Given the description of an element on the screen output the (x, y) to click on. 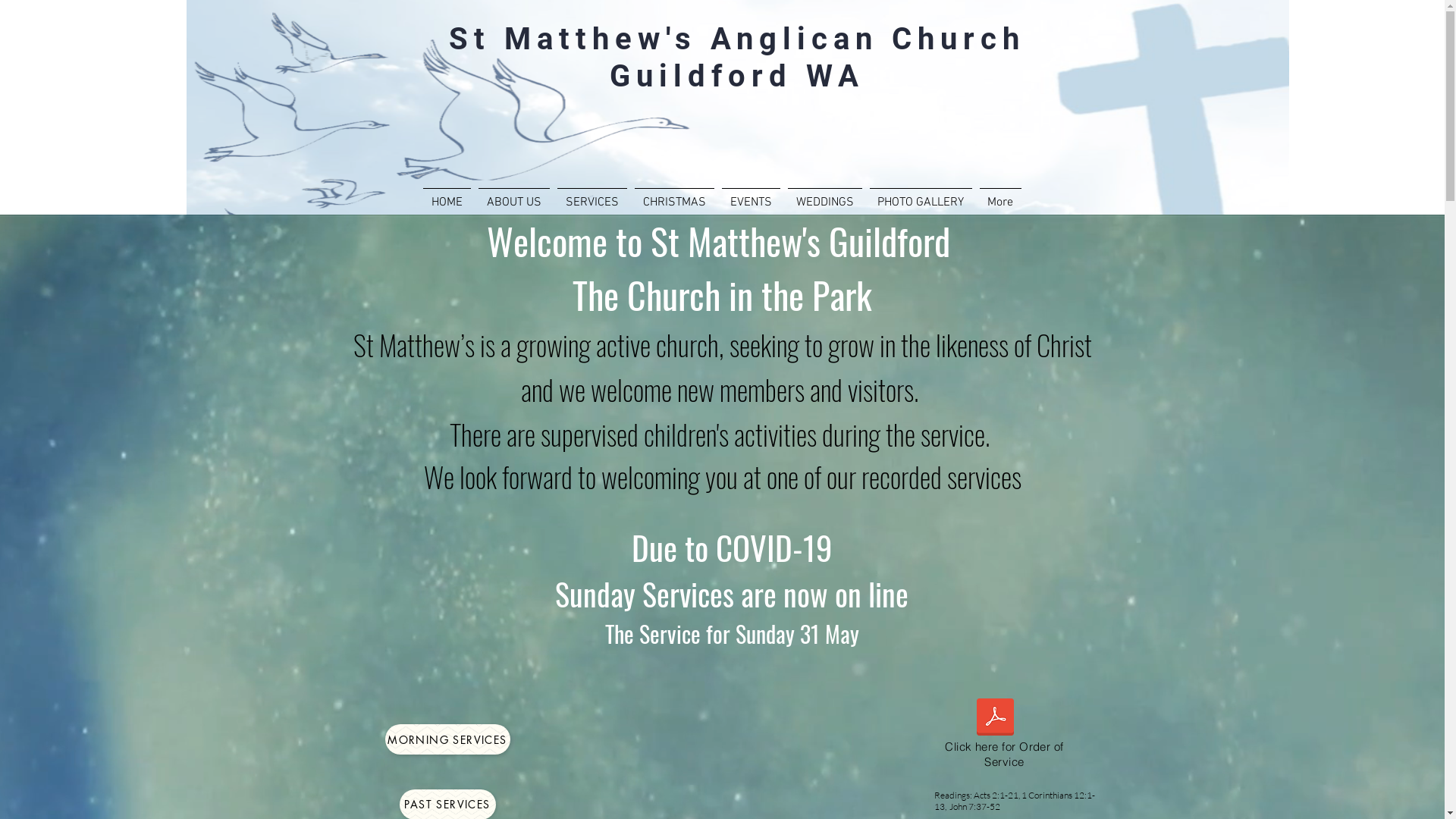
APBA p.35-40 Prayer Praise and Proclaima Element type: hover (995, 718)
CHRISTMAS Element type: text (674, 195)
SERVICES Element type: text (591, 195)
ABOUT US Element type: text (513, 195)
recorded services Element type: text (941, 476)
EVENTS Element type: text (750, 195)
WEDDINGS Element type: text (825, 195)
St Matthew's Anglican Church Guildford WA Element type: text (736, 56)
MORNING SERVICES Element type: text (447, 739)
PHOTO GALLERY Element type: text (920, 195)
HOME Element type: text (445, 195)
